Given the description of an element on the screen output the (x, y) to click on. 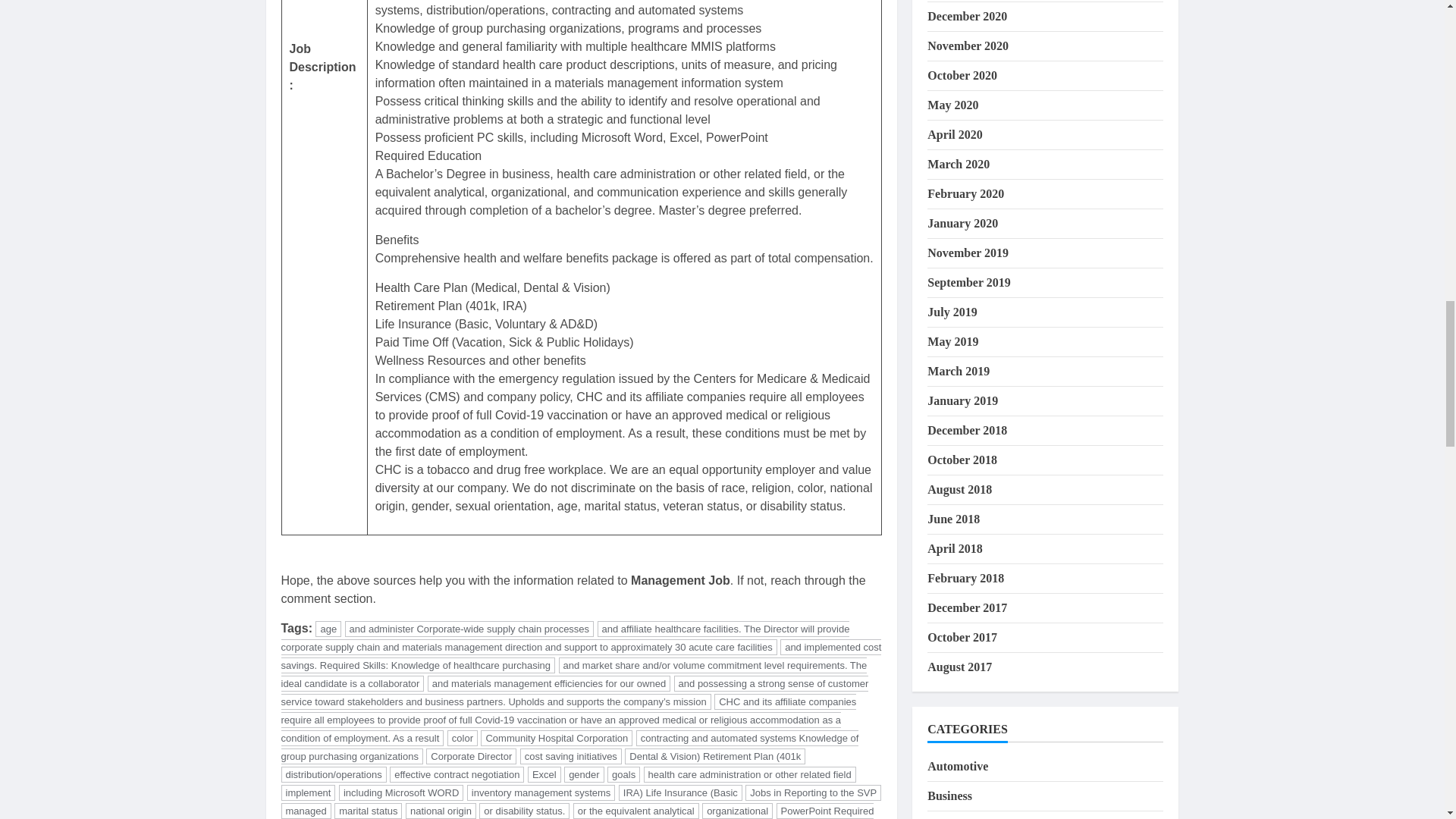
color (461, 738)
and administer Corporate-wide supply chain processes (469, 628)
cost saving initiatives (570, 756)
and materials management efficiencies for our owned (548, 683)
age (327, 628)
Corporate Director (471, 756)
